Given the description of an element on the screen output the (x, y) to click on. 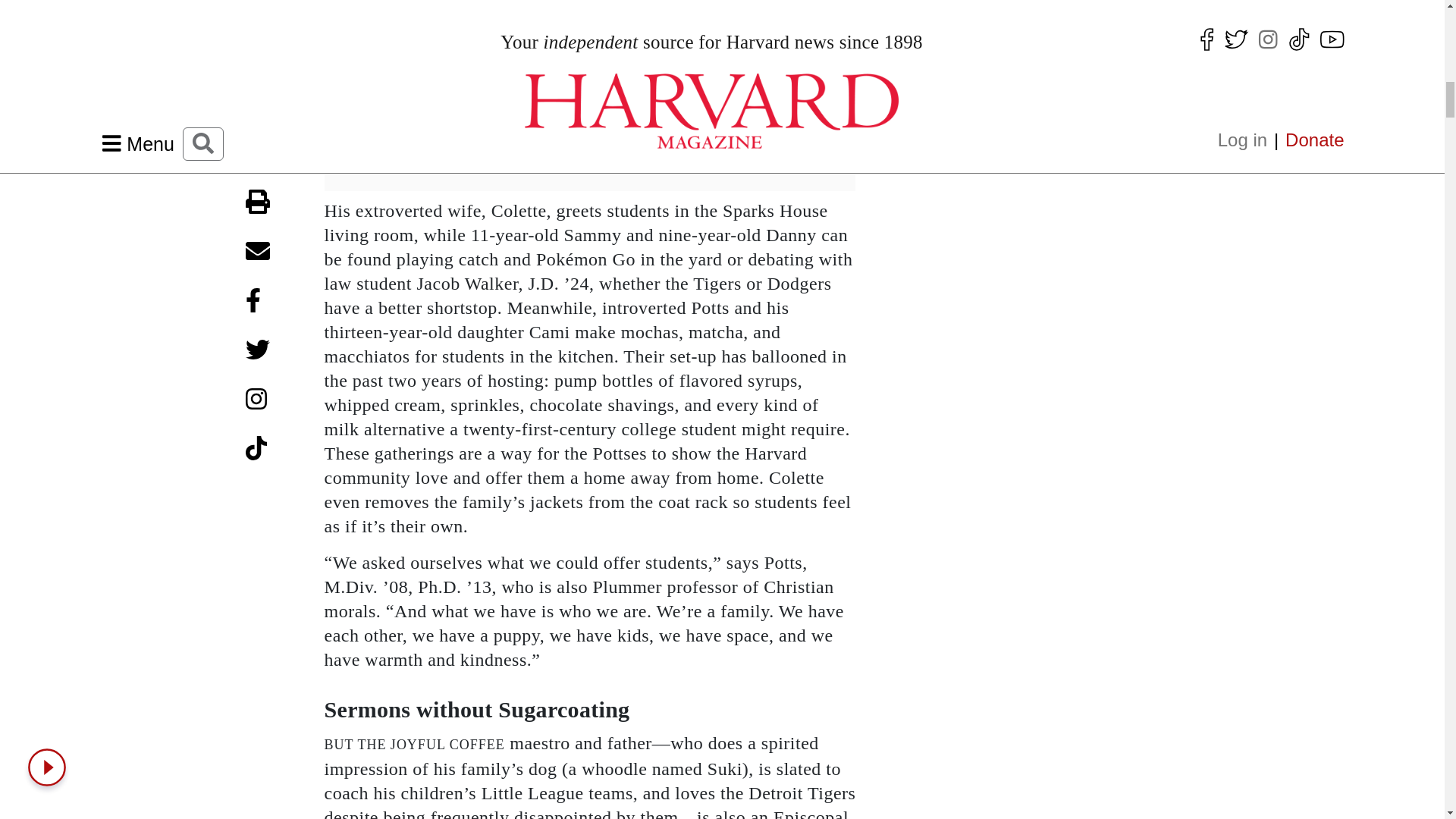
Fixed income for life (1003, 18)
